Given the description of an element on the screen output the (x, y) to click on. 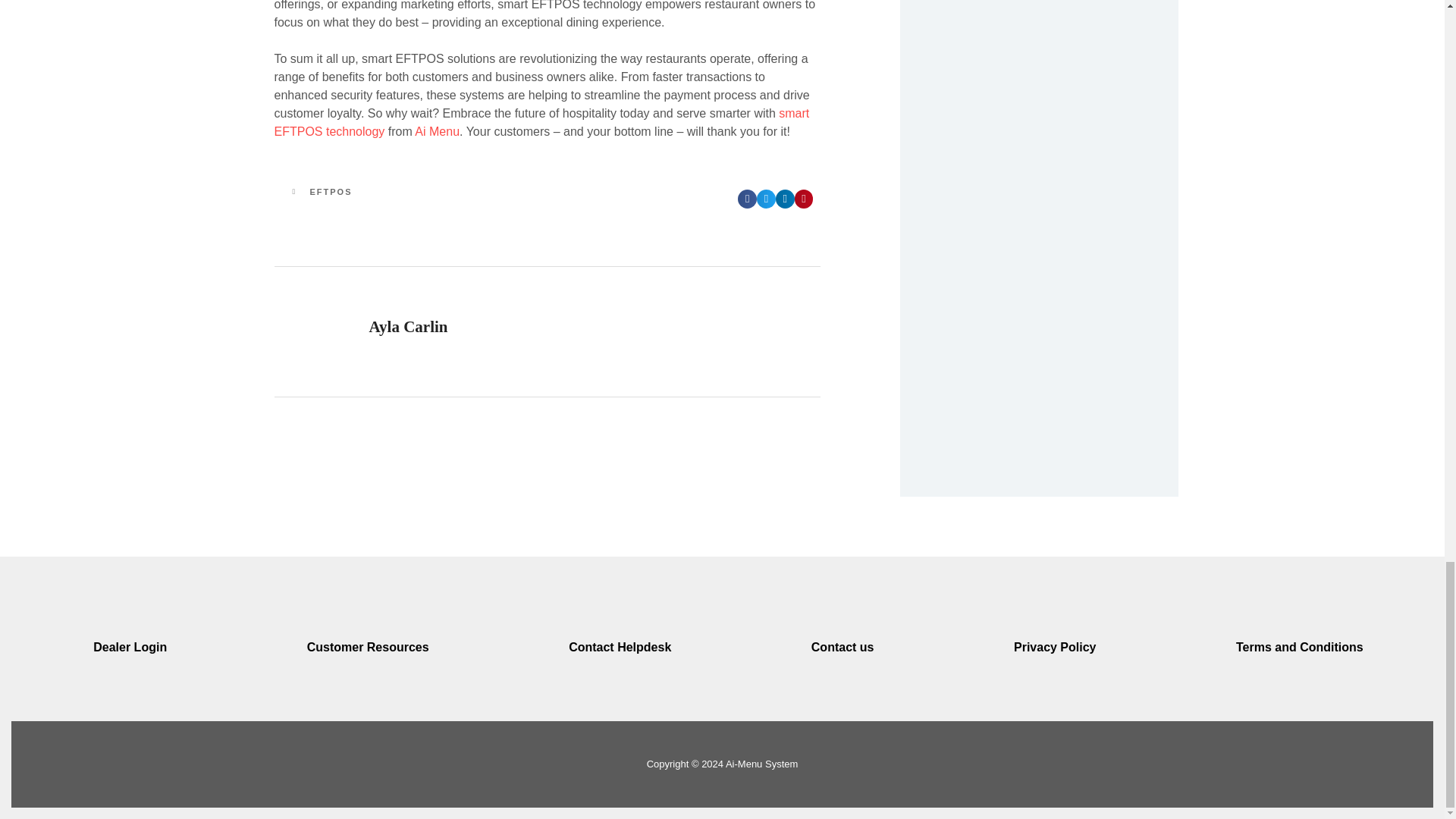
Ayla Carlin (548, 331)
EFTPOS (405, 200)
